Given the description of an element on the screen output the (x, y) to click on. 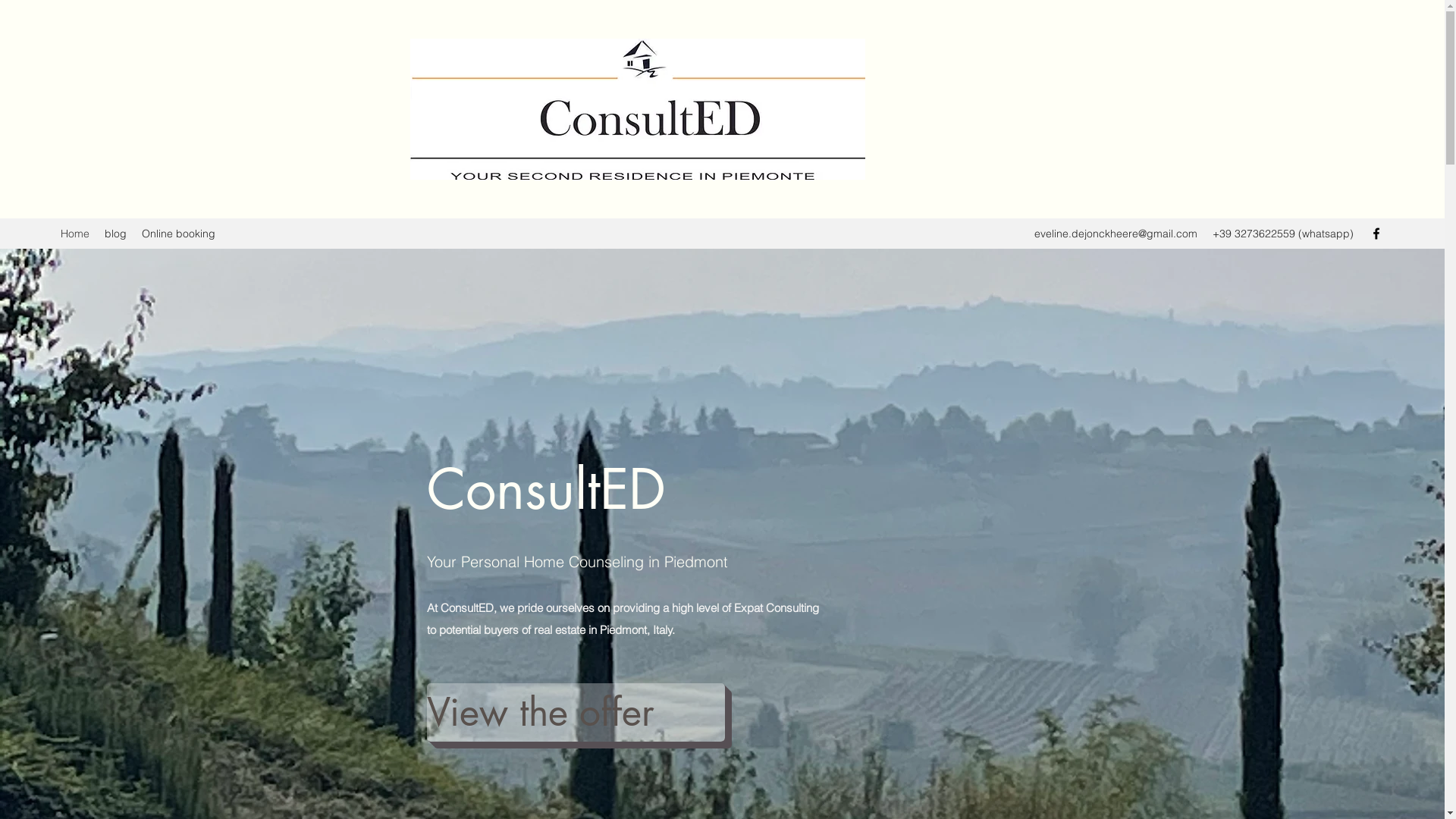
logo.jpg Element type: hover (561, 178)
View the offer Element type: text (575, 712)
blog Element type: text (115, 233)
logo.jpg Element type: hover (637, 108)
Online booking Element type: text (178, 233)
Home Element type: text (75, 233)
eveline.dejonckheere@gmail.com Element type: text (1115, 233)
